Given the description of an element on the screen output the (x, y) to click on. 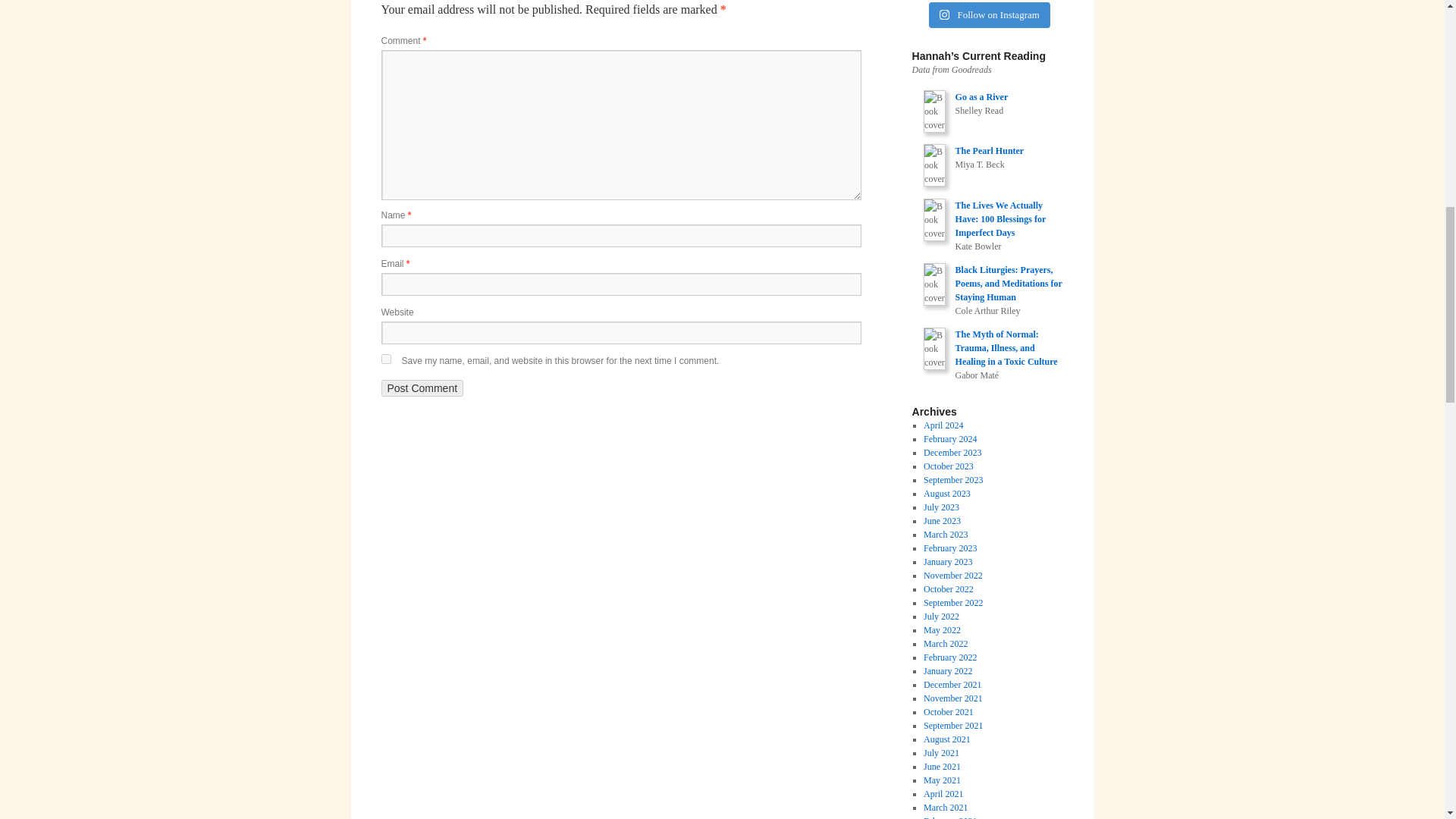
Post Comment (421, 388)
yes (385, 358)
Post Comment (421, 388)
